Given the description of an element on the screen output the (x, y) to click on. 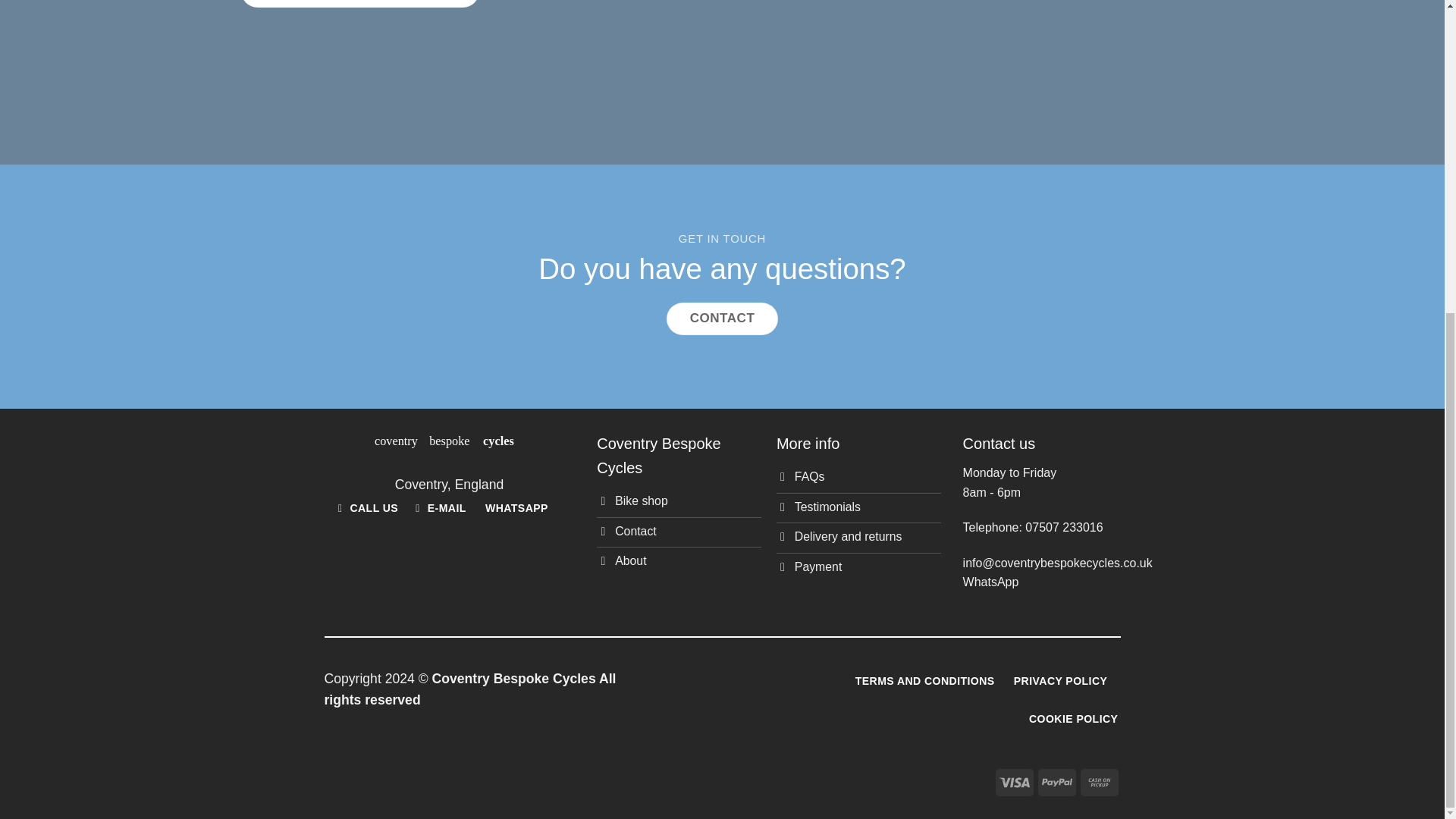
07507 233016 (1063, 526)
TERMS AND CONDITIONS (925, 681)
Bike shop (678, 502)
Contact (678, 532)
About (678, 562)
RETURN TO THE HOMEPAGE (360, 3)
WHATSAPP (516, 508)
COOKIE POLICY (1073, 719)
FAQs (858, 478)
CALL US (368, 508)
